Given the description of an element on the screen output the (x, y) to click on. 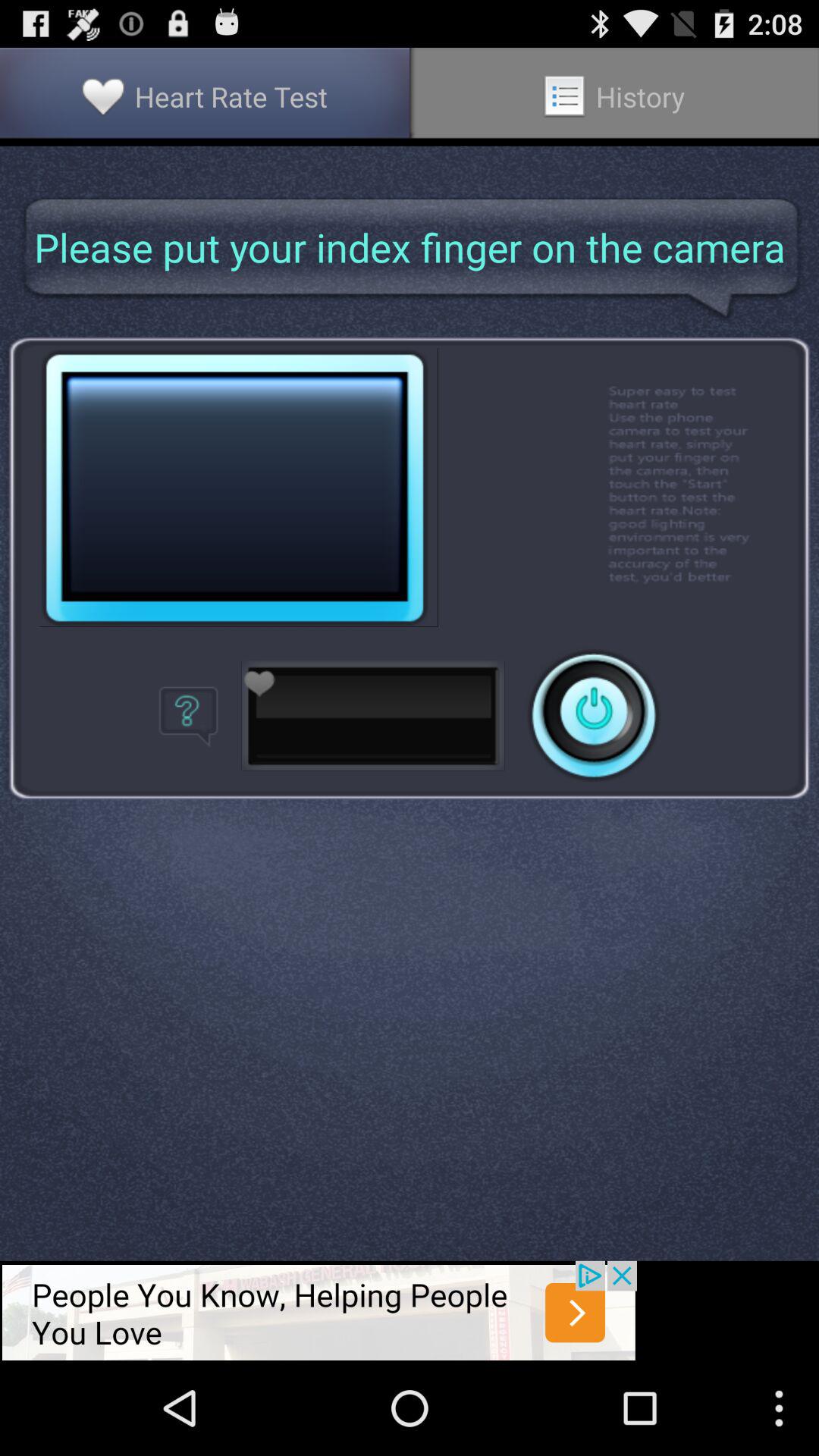
advertisement (318, 1310)
